Given the description of an element on the screen output the (x, y) to click on. 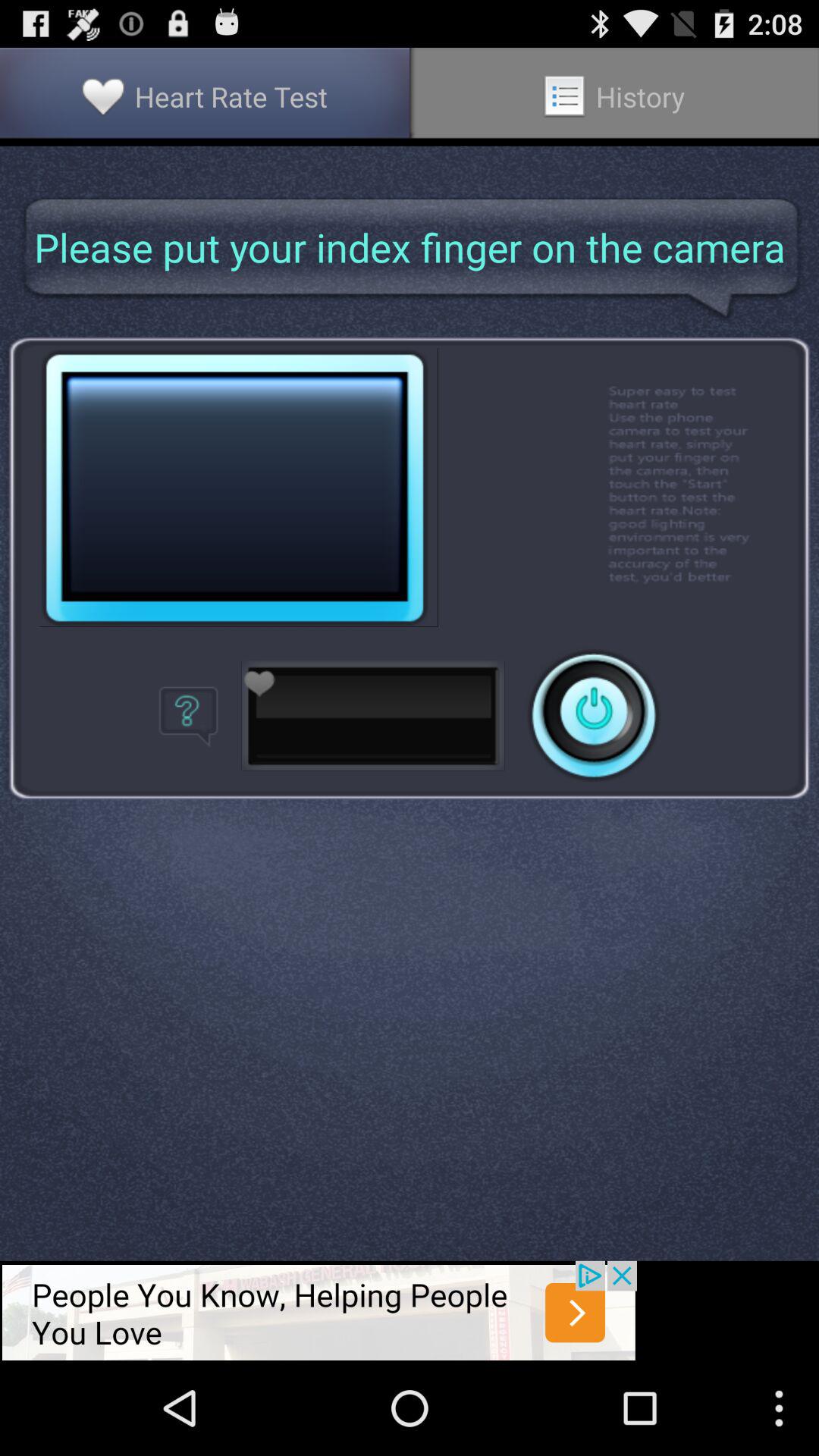
advertisement (318, 1310)
